Given the description of an element on the screen output the (x, y) to click on. 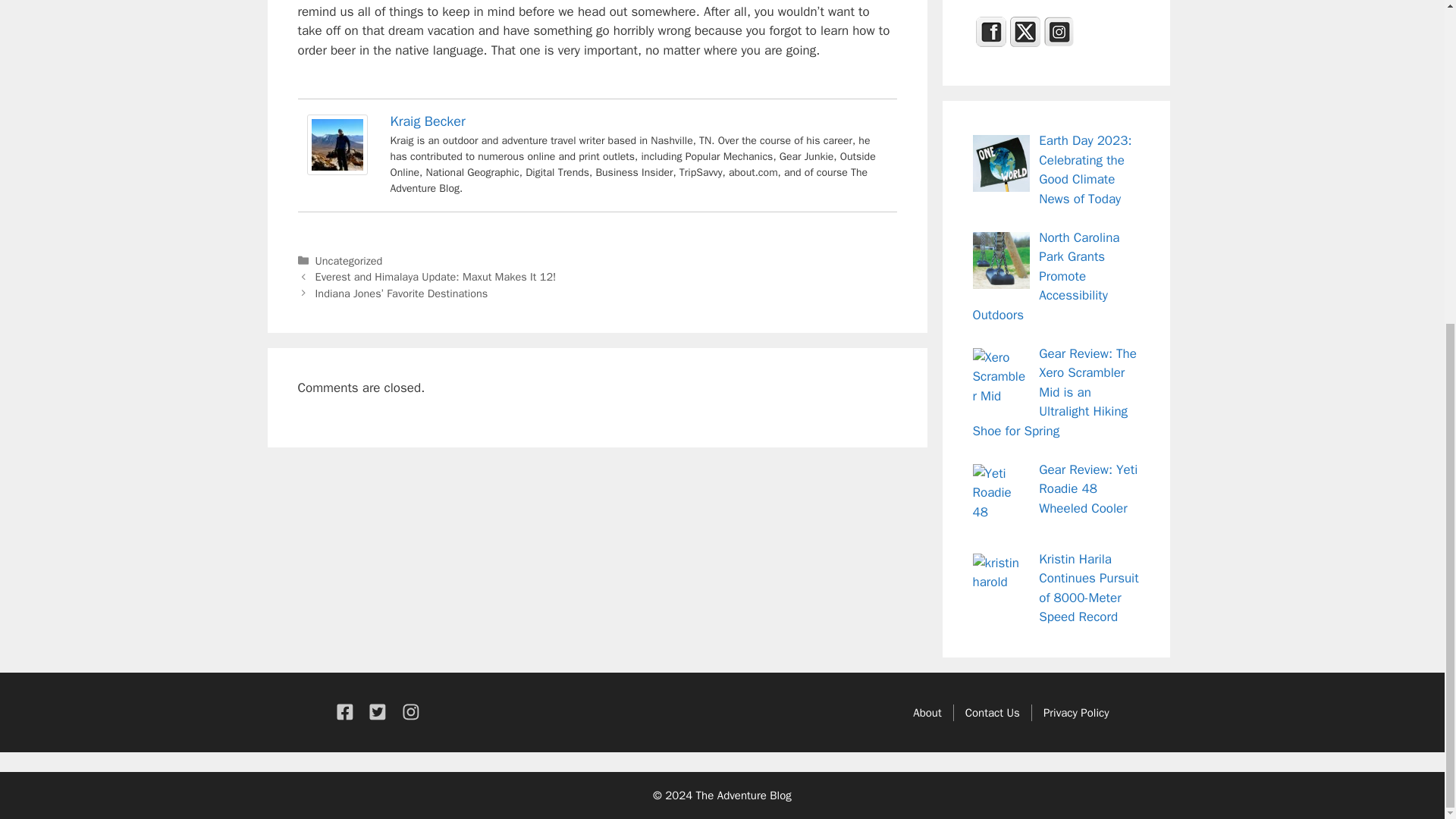
Everest and Himalaya Update: Maxut Makes It 12! (435, 276)
Facebook (990, 31)
Uncategorized (348, 260)
Twitter (1025, 31)
Kraig Becker (427, 121)
Kraig Becker (335, 170)
Instagram (1058, 31)
